Given the description of an element on the screen output the (x, y) to click on. 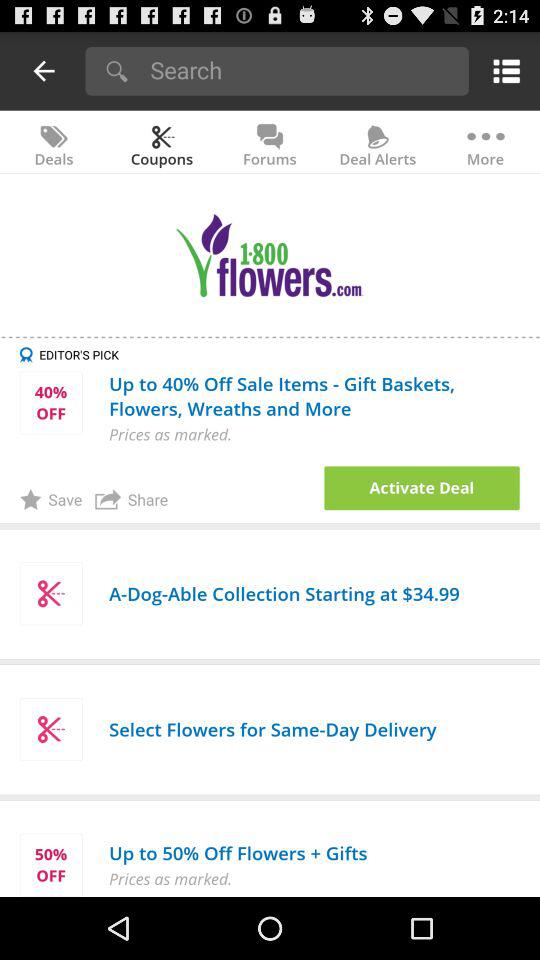
flip to the share item (131, 499)
